Given the description of an element on the screen output the (x, y) to click on. 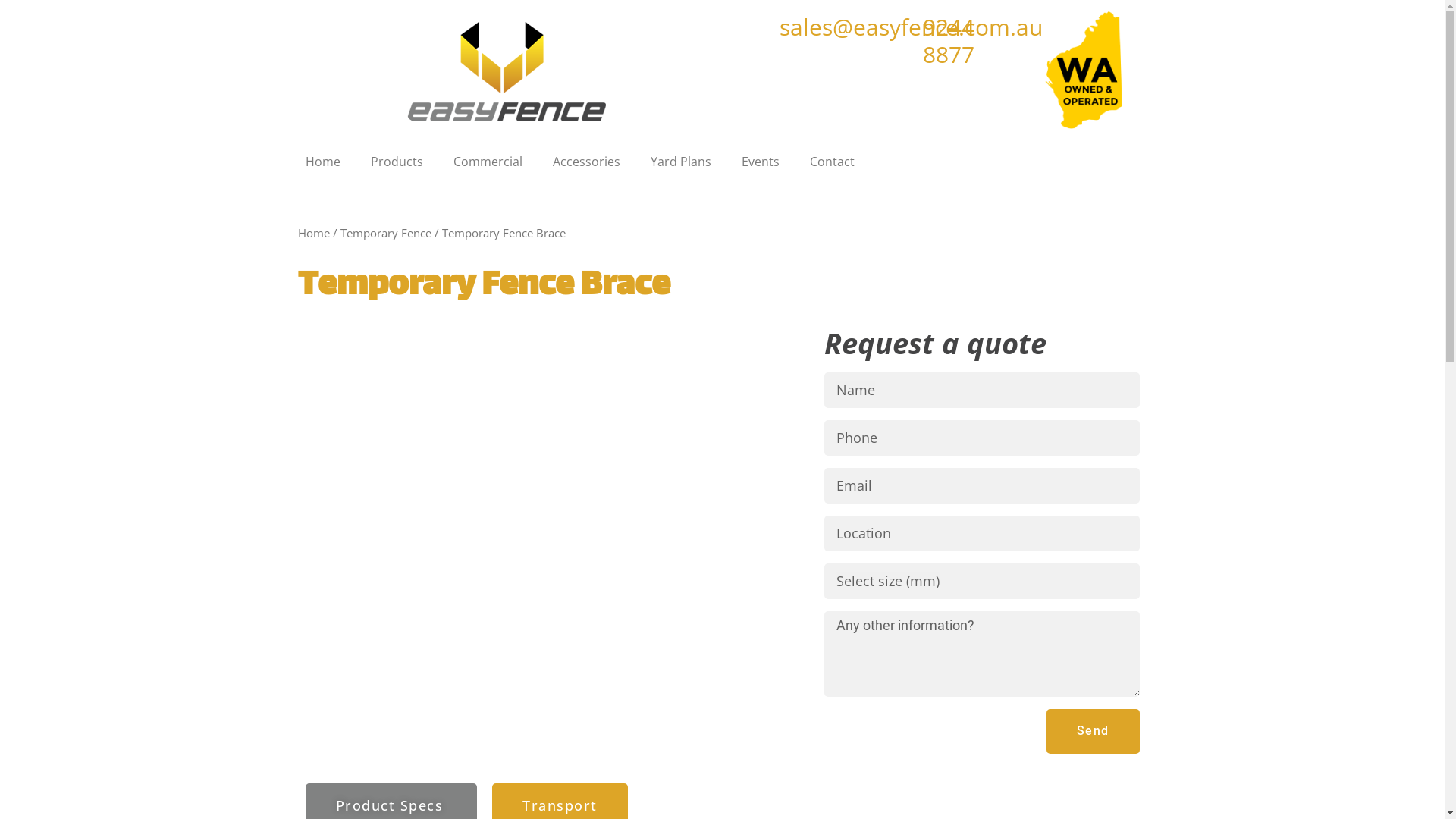
EF WA Icon 500x500px Element type: hover (1081, 71)
Temporary Fence Element type: text (384, 232)
Products Element type: text (395, 161)
Home Element type: text (321, 161)
Send Element type: text (1092, 731)
Yard Plans Element type: text (680, 161)
Accessories Element type: text (585, 161)
Commercial Element type: text (487, 161)
Contact Element type: text (831, 161)
Home Element type: text (313, 232)
sales@easyfence.com.au Element type: text (910, 26)
9244 8877 Element type: text (948, 40)
Events Element type: text (760, 161)
